Given the description of an element on the screen output the (x, y) to click on. 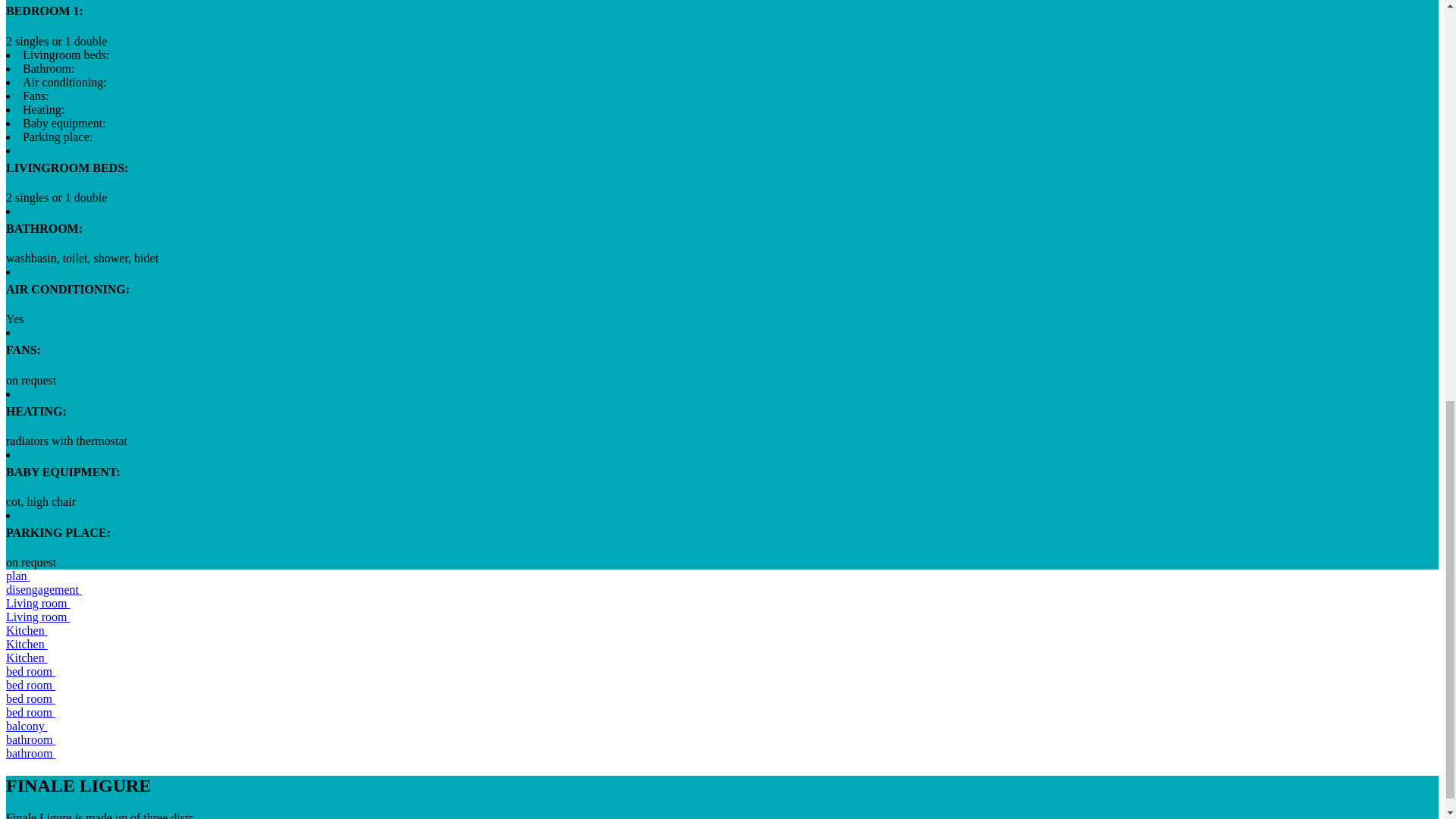
bed room (30, 671)
bathroom (30, 753)
Living room (37, 603)
bed room (30, 684)
Kitchen (26, 630)
plan (17, 575)
bed room (30, 712)
bathroom (30, 739)
Kitchen (26, 657)
Living room (37, 616)
Kitchen (26, 644)
disengagement (43, 589)
balcony (26, 725)
bed room (30, 698)
